Given the description of an element on the screen output the (x, y) to click on. 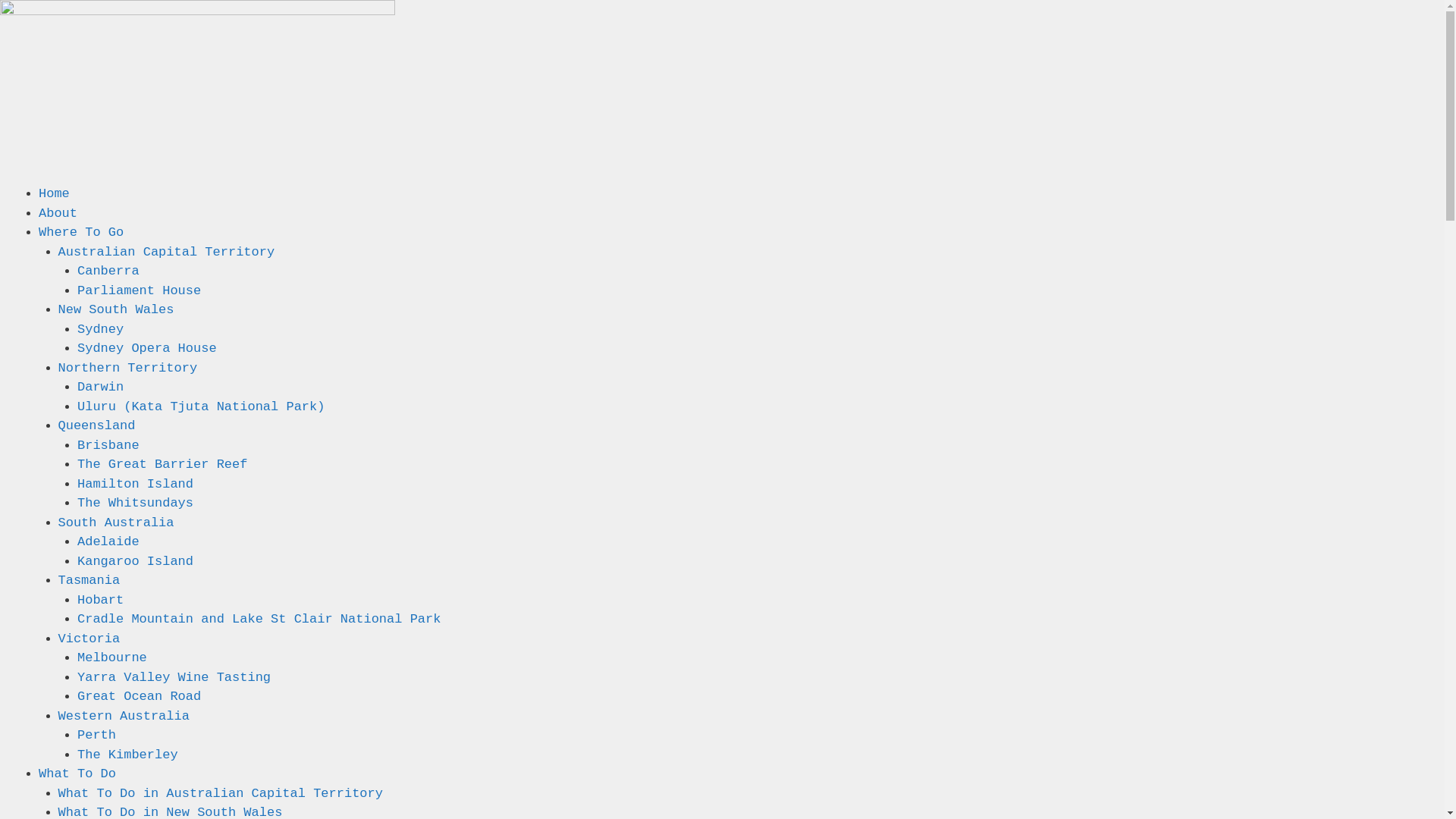
Darwin Element type: text (100, 386)
Hobart Element type: text (100, 600)
Western Australia Element type: text (122, 715)
Perth Element type: text (96, 735)
Sydney Element type: text (100, 328)
Tasmania Element type: text (88, 580)
New South Wales Element type: text (115, 309)
Great Ocean Road Element type: text (138, 696)
Hamilton Island Element type: text (135, 483)
What To Do Element type: text (77, 773)
Canberra Element type: text (108, 270)
Northern Territory Element type: text (127, 367)
About Element type: text (57, 213)
What To Do in Australian Capital Territory Element type: text (219, 792)
Where To Go Element type: text (80, 232)
Queensland Element type: text (95, 425)
Cradle Mountain and Lake St Clair National Park Element type: text (258, 618)
Sydney Opera House Element type: text (146, 348)
The Kimberley Element type: text (127, 754)
The Whitsundays Element type: text (135, 502)
Yarra Valley Wine Tasting Element type: text (173, 677)
Parliament House Element type: text (138, 290)
The Great Barrier Reef Element type: text (162, 464)
Adelaide Element type: text (108, 541)
Home Element type: text (53, 193)
Kangaroo Island Element type: text (135, 560)
Uluru (Kata Tjuta National Park) Element type: text (200, 405)
Australian Capital Territory Element type: text (165, 251)
South Australia Element type: text (115, 522)
Victoria Element type: text (88, 637)
Melbourne Element type: text (112, 657)
Brisbane Element type: text (108, 445)
